Given the description of an element on the screen output the (x, y) to click on. 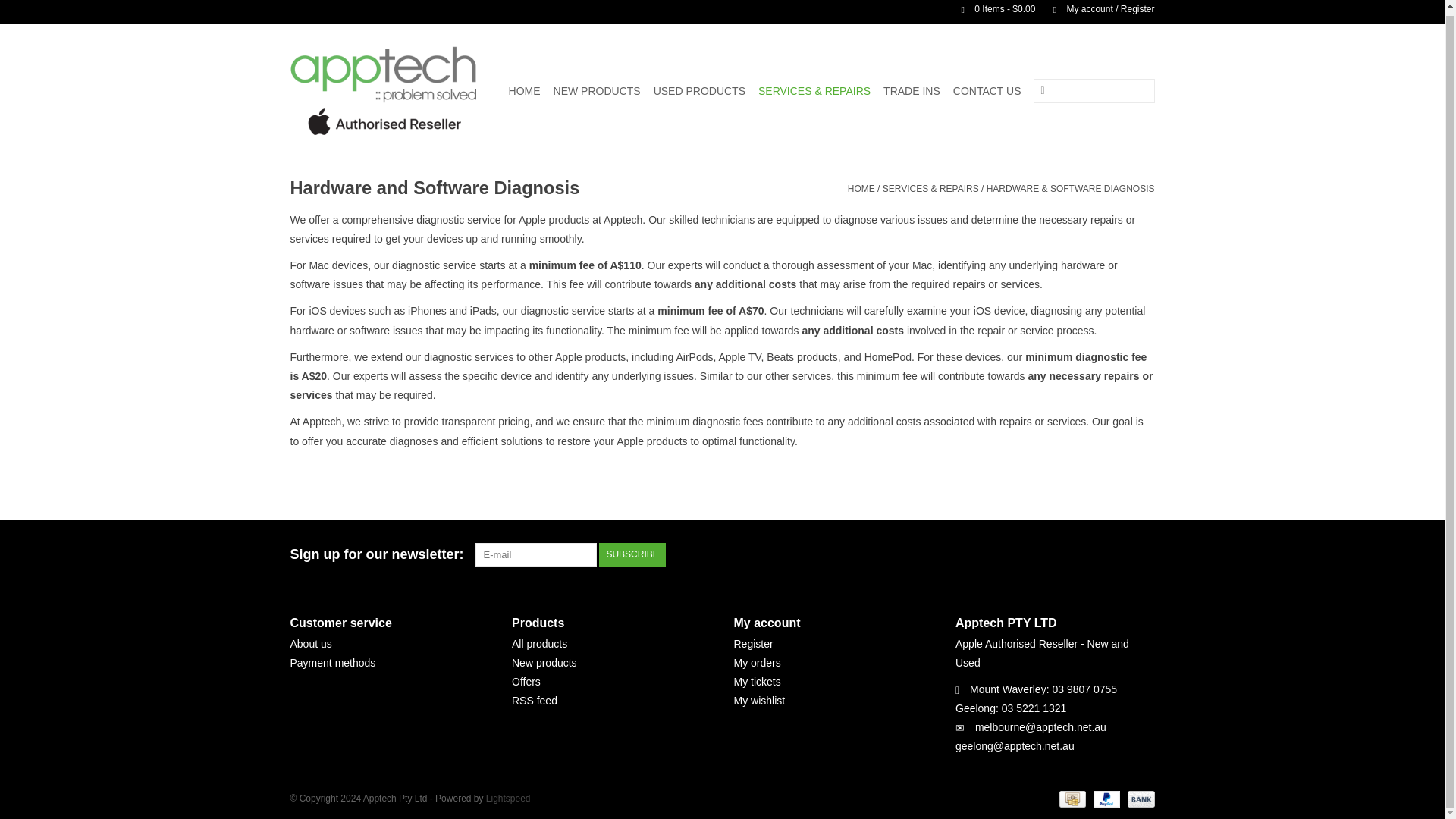
My account (1096, 9)
HOME (523, 90)
New Products (596, 90)
NEW PRODUCTS (596, 90)
Apptech Pty Ltd (385, 90)
Cart (992, 9)
